Given the description of an element on the screen output the (x, y) to click on. 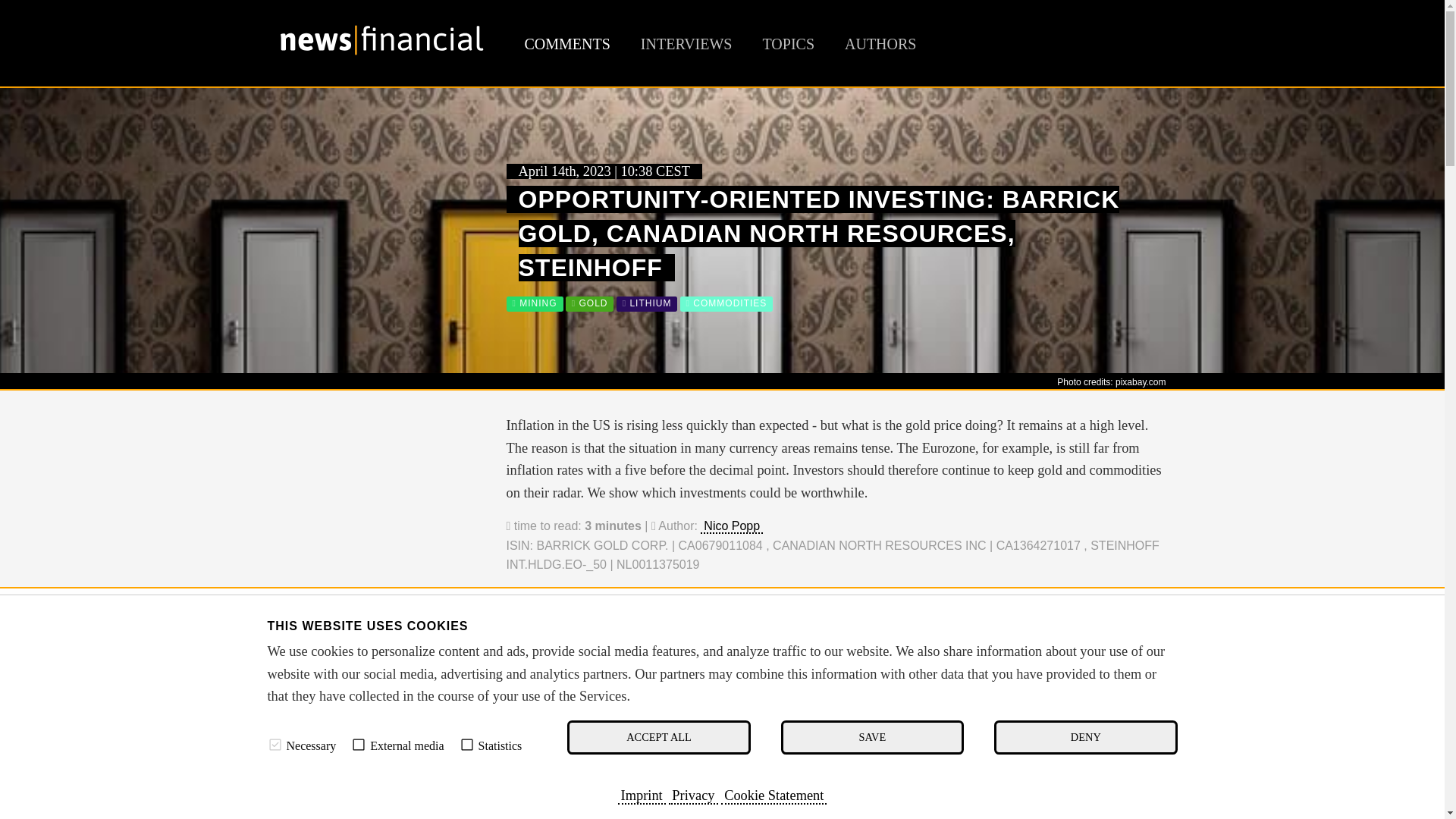
DENY (1085, 737)
STEINHOFF: WE HAVE ALWAYS WRITTEN IT (677, 702)
TOPICS (787, 44)
SAVE (871, 737)
Imprint (641, 795)
ACCEPT ALL (658, 737)
CANADIAN NORTH RESOURCES: THE SOLID AMONG THE SPECULATORS (772, 682)
Gary Cope, President and CEO, Barsele Minerals (380, 800)
INTERVIEWS (686, 44)
BARRICK GOLD: NO EXPERIMENTS (651, 662)
COMMENTS (566, 44)
AUTHORS (879, 44)
Nico Popp (731, 526)
Privacy (692, 795)
Cookie Statement (773, 795)
